Given the description of an element on the screen output the (x, y) to click on. 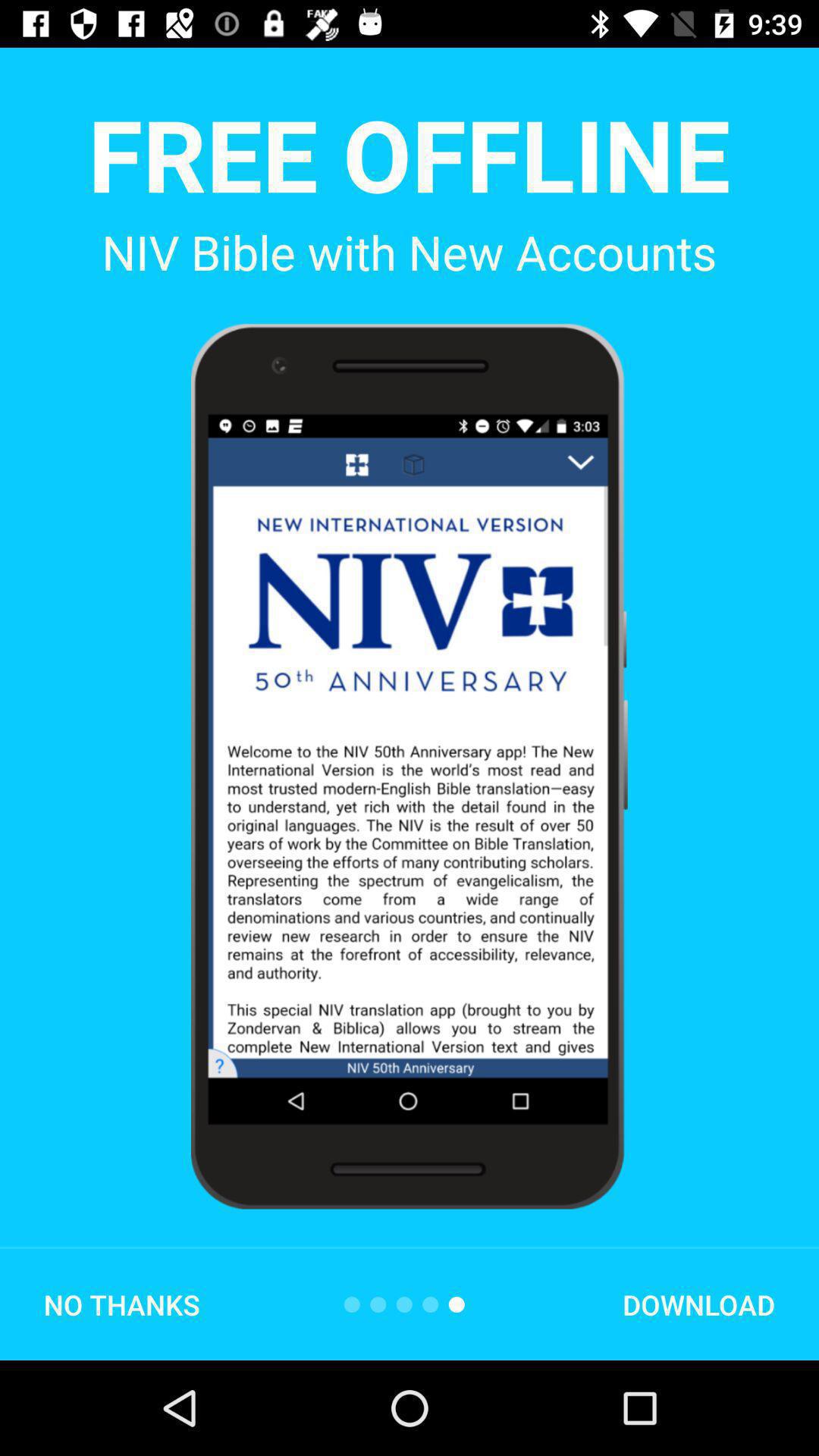
press icon at the bottom left corner (121, 1304)
